Given the description of an element on the screen output the (x, y) to click on. 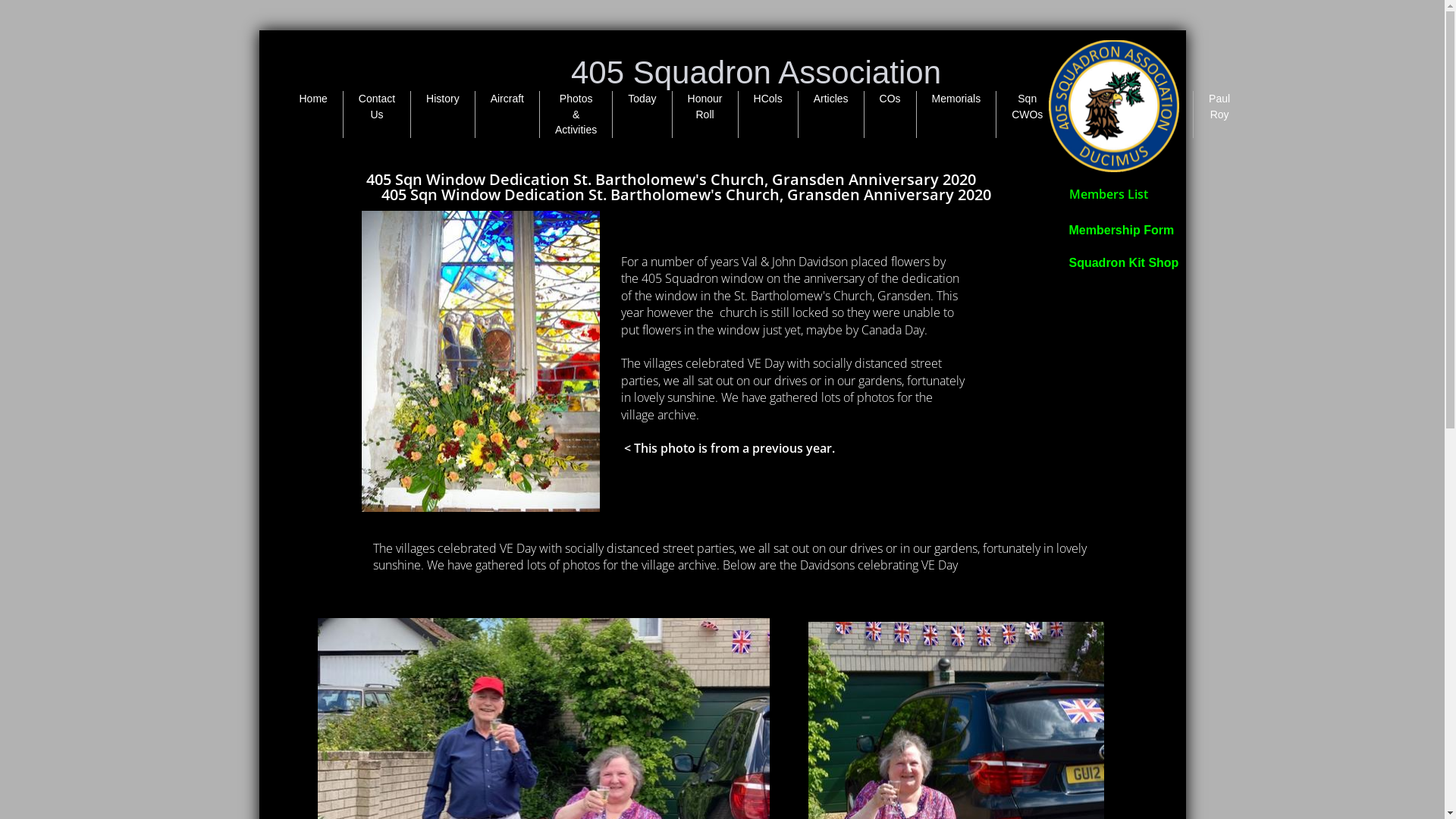
Memorials Element type: text (956, 98)
Articles Element type: text (830, 98)
HCols Element type: text (767, 98)
Today Element type: text (641, 98)
Memorials 1 Element type: text (1098, 106)
Paul Roy Element type: text (1219, 106)
Contact Us Element type: text (376, 106)
Photos & Activities Element type: text (575, 113)
2023 Element type: text (1165, 98)
Aircraft Element type: text (507, 98)
Home Element type: text (312, 98)
History Element type: text (442, 98)
Sqn CWOs Element type: text (1026, 106)
Members List Element type: text (1108, 194)
COs Element type: text (889, 98)
Membership Form Element type: text (1121, 229)
Squadron Kit Shop Element type: text (1124, 262)
Honour Roll Element type: text (704, 106)
